Given the description of an element on the screen output the (x, y) to click on. 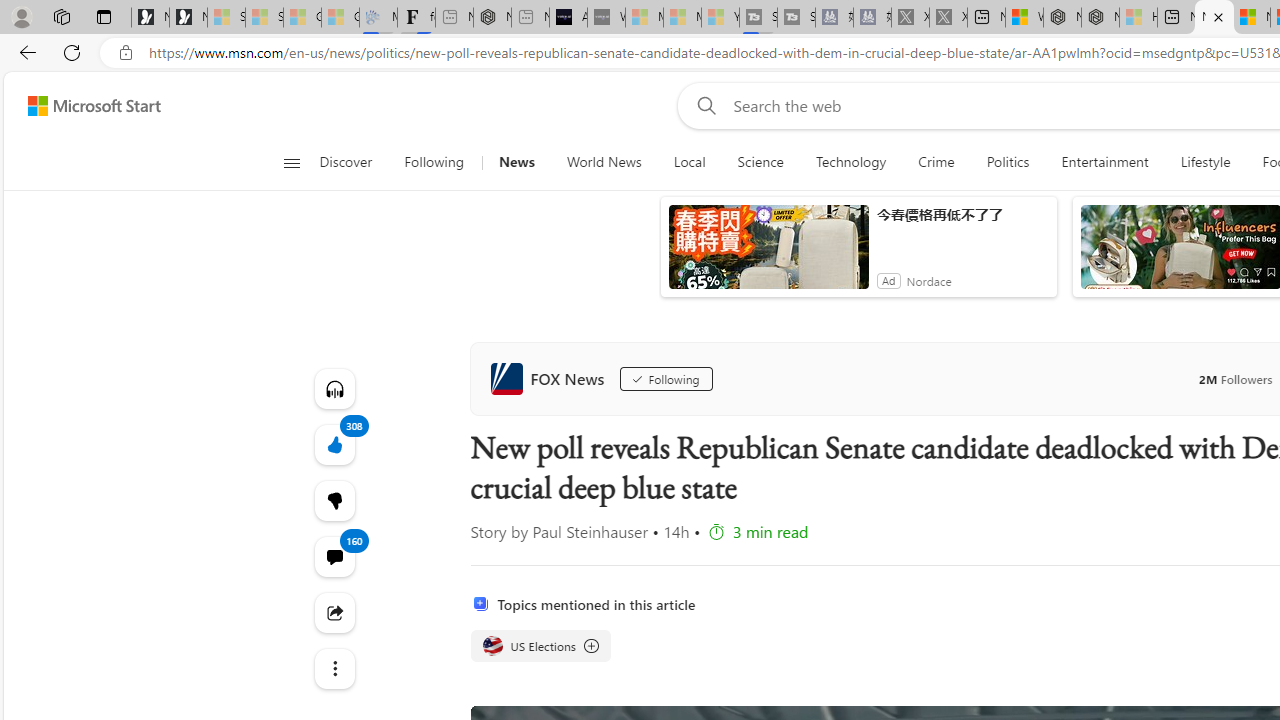
View comments 160 Comment (333, 556)
Open navigation menu (291, 162)
Microsoft Start Sports - Sleeping (644, 17)
Crime (935, 162)
Lifestyle (1205, 162)
What's the best AI voice generator? - voice.ai - Sleeping (605, 17)
Science (760, 162)
